Given the description of an element on the screen output the (x, y) to click on. 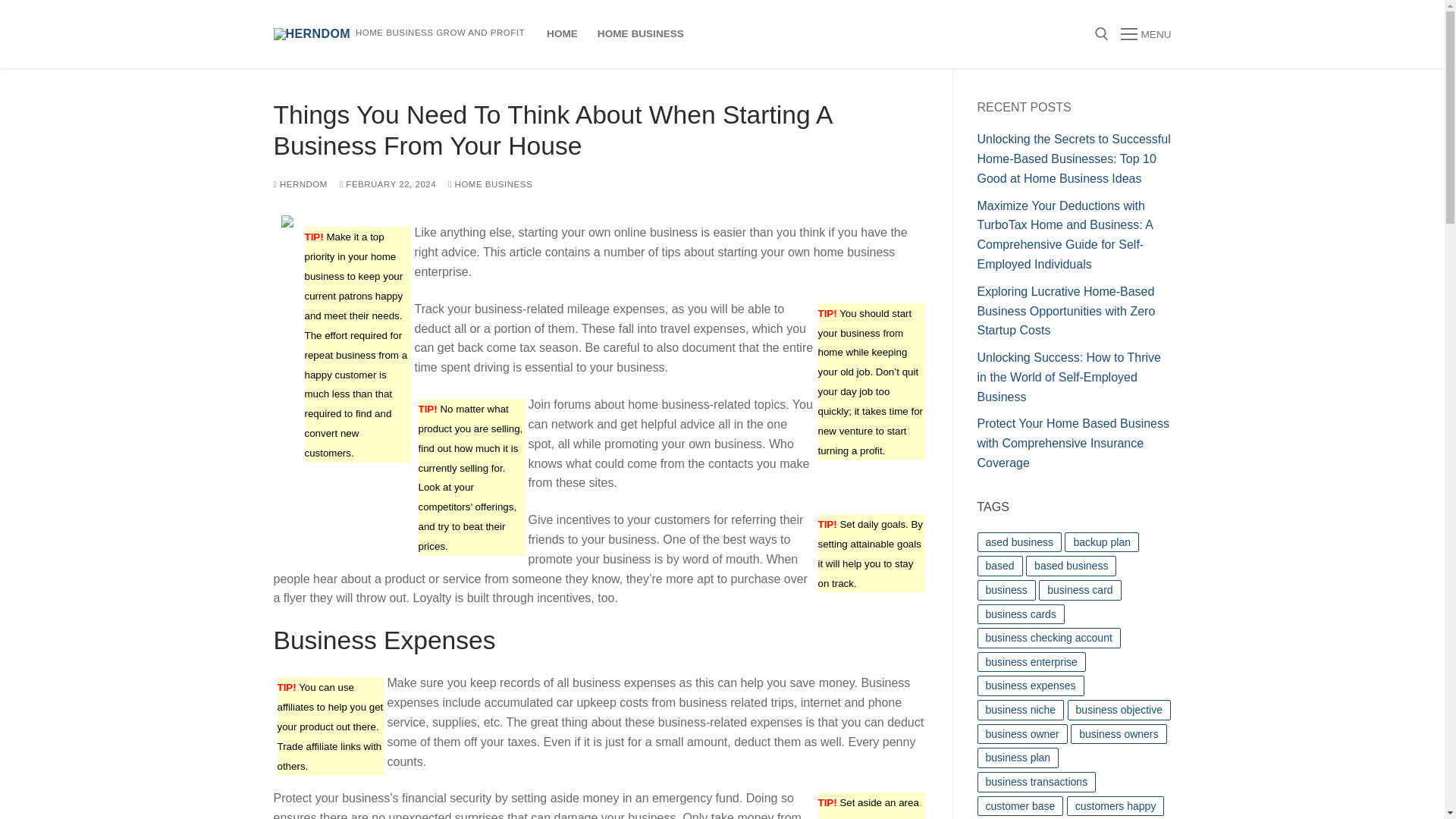
HERNDOM (299, 184)
HOME BUSINESS (490, 184)
HOME (562, 33)
MENU (1145, 34)
HOME BUSINESS (641, 33)
FEBRUARY 22, 2024 (387, 184)
